Given the description of an element on the screen output the (x, y) to click on. 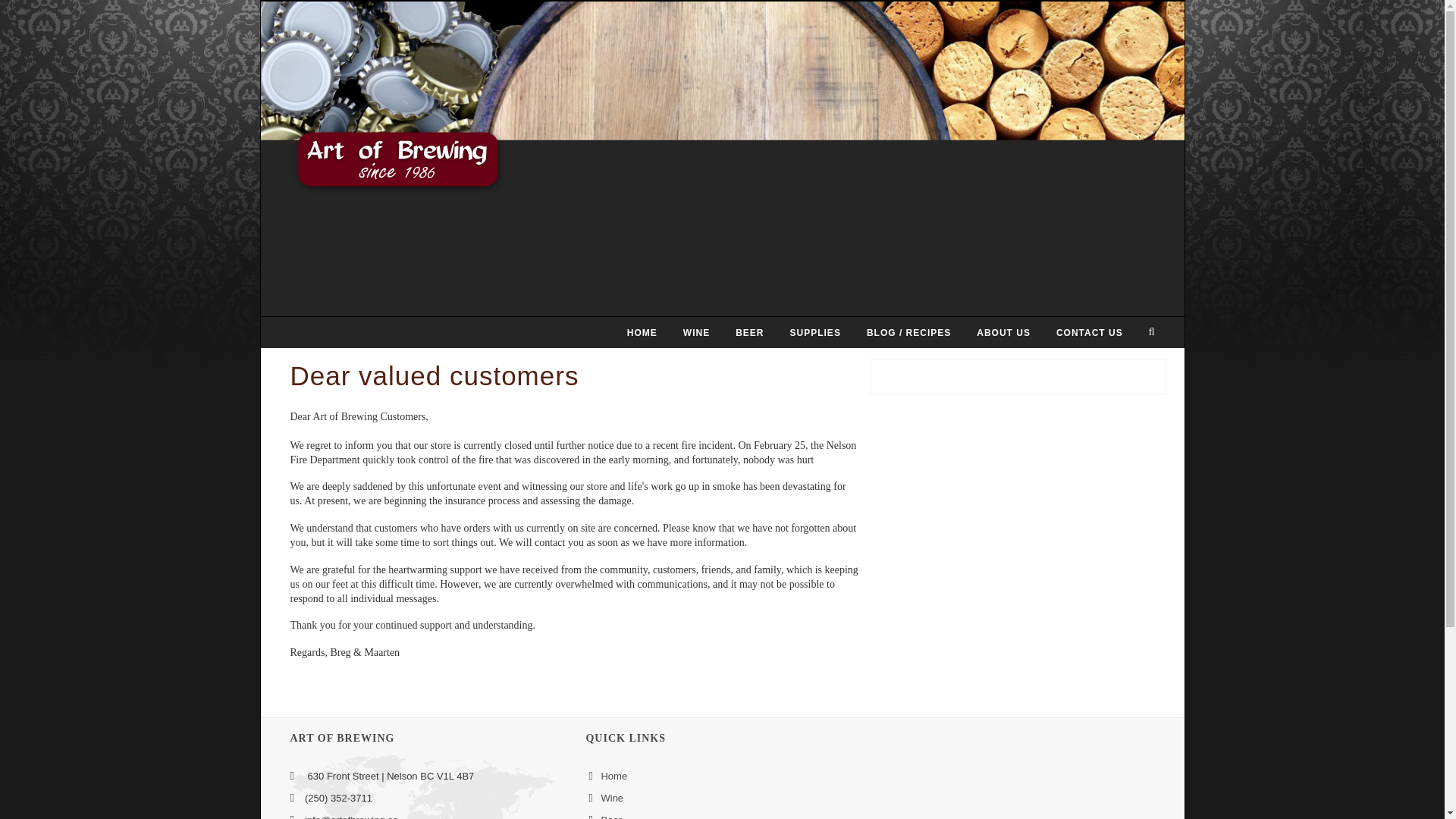
SUPPLIES (814, 332)
HOME (641, 332)
CONTACT US (1089, 332)
Beer (610, 816)
Home (613, 776)
BEER (749, 332)
ABOUT US (1003, 332)
WINE (696, 332)
Wine (611, 797)
